Given the description of an element on the screen output the (x, y) to click on. 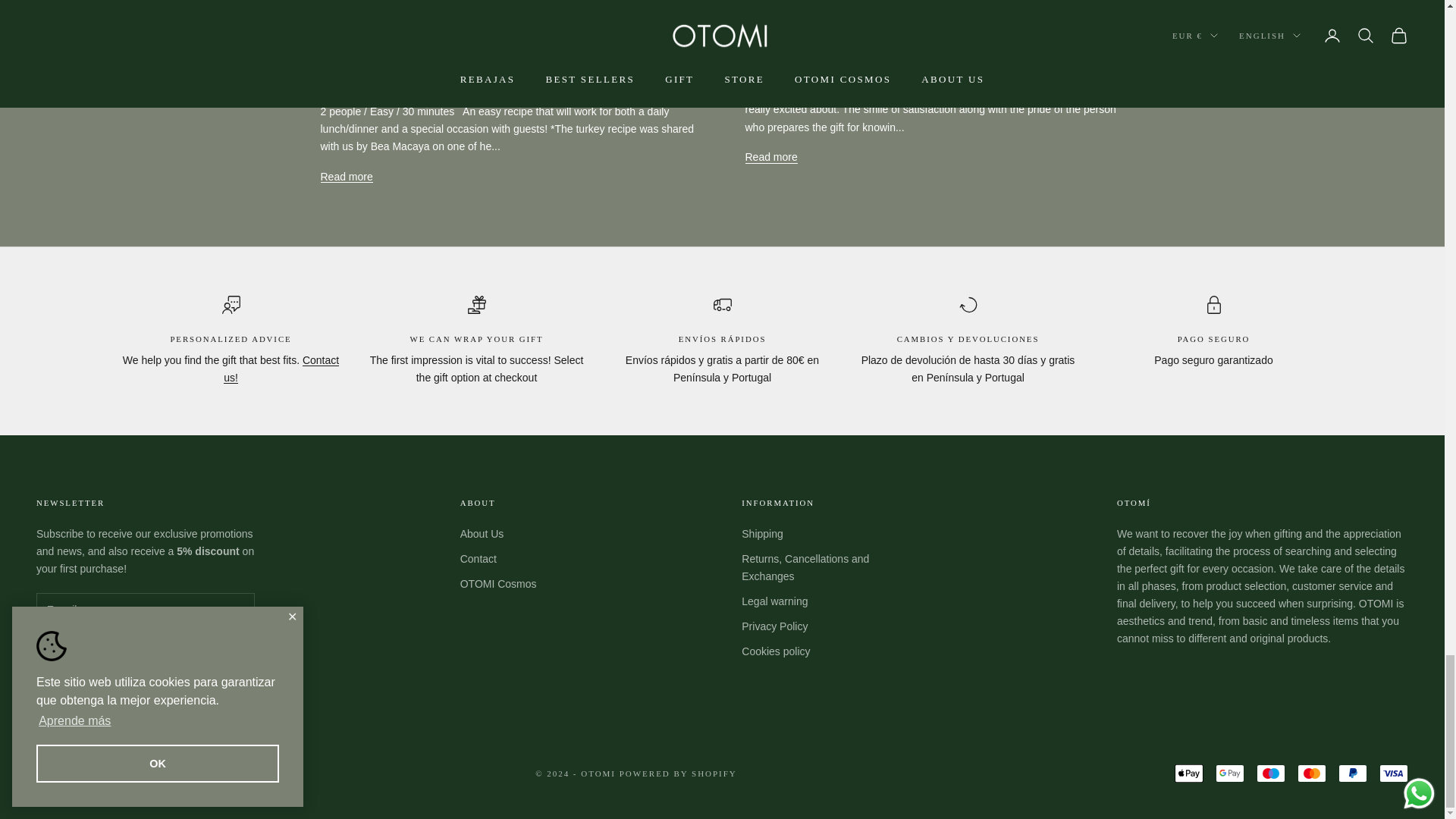
Contact (281, 368)
